Given the description of an element on the screen output the (x, y) to click on. 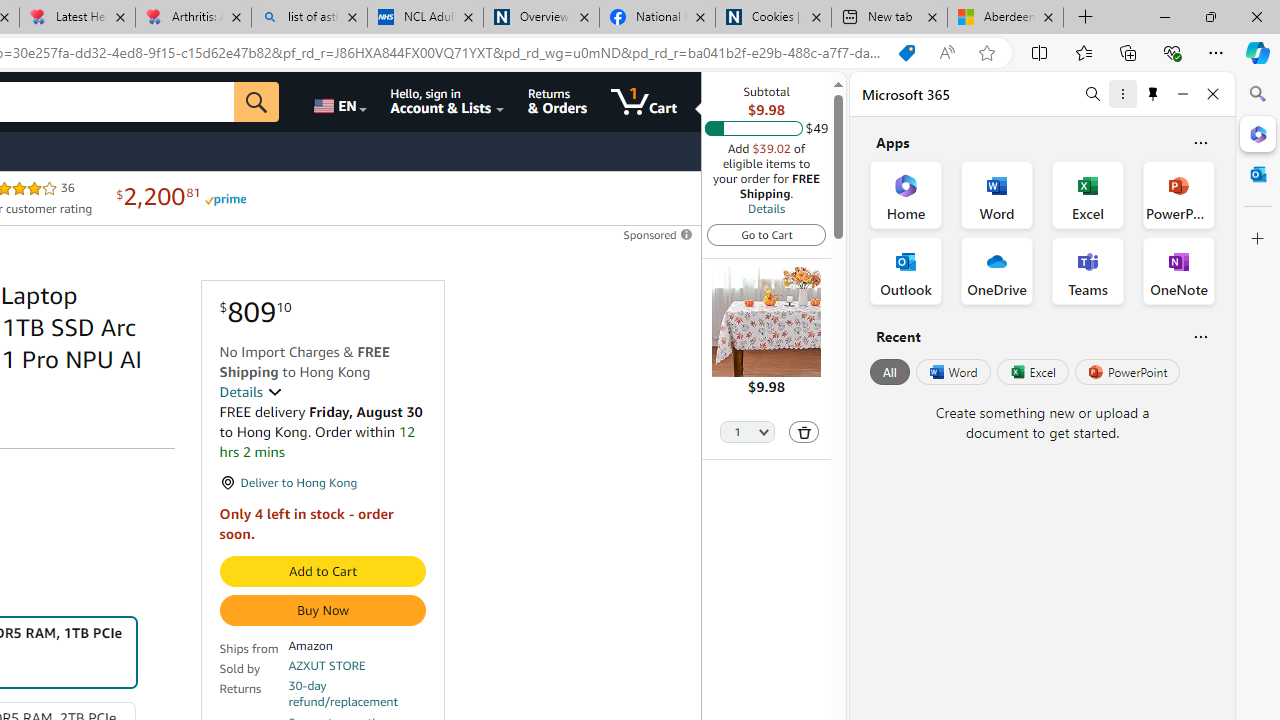
Excel Office App (1087, 194)
Word Office App (996, 194)
30-day refund/replacement (357, 693)
Hello, sign in Account & Lists (447, 101)
Outlook Office App (906, 270)
Returns & Orders (557, 101)
Add to Cart (322, 571)
Cookies | About | NICE (772, 17)
Aberdeen, Hong Kong SAR hourly forecast | Microsoft Weather (1005, 17)
Prime (224, 198)
